Given the description of an element on the screen output the (x, y) to click on. 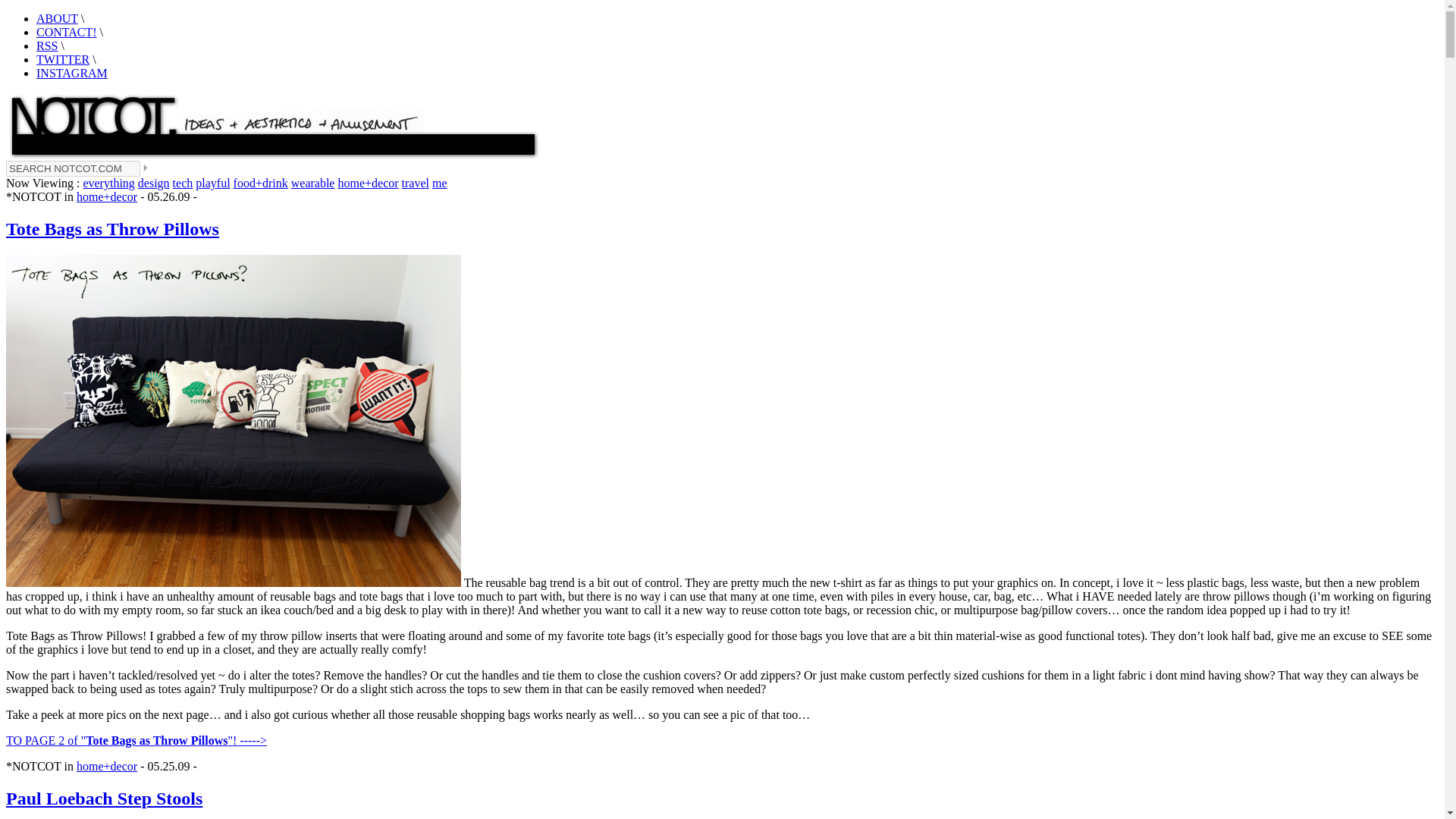
me (439, 182)
SEARCH NOTCOT.COM (72, 168)
playful (212, 182)
Paul Loebach Step Stools (103, 798)
travel (415, 182)
ABOUT (57, 18)
CONTACT! (66, 31)
tech (183, 182)
INSTAGRAM (71, 72)
TWITTER (62, 59)
wearable (312, 182)
design (154, 182)
Tote Bags as Throw Pillows (112, 229)
RSS (47, 45)
everything (107, 182)
